Given the description of an element on the screen output the (x, y) to click on. 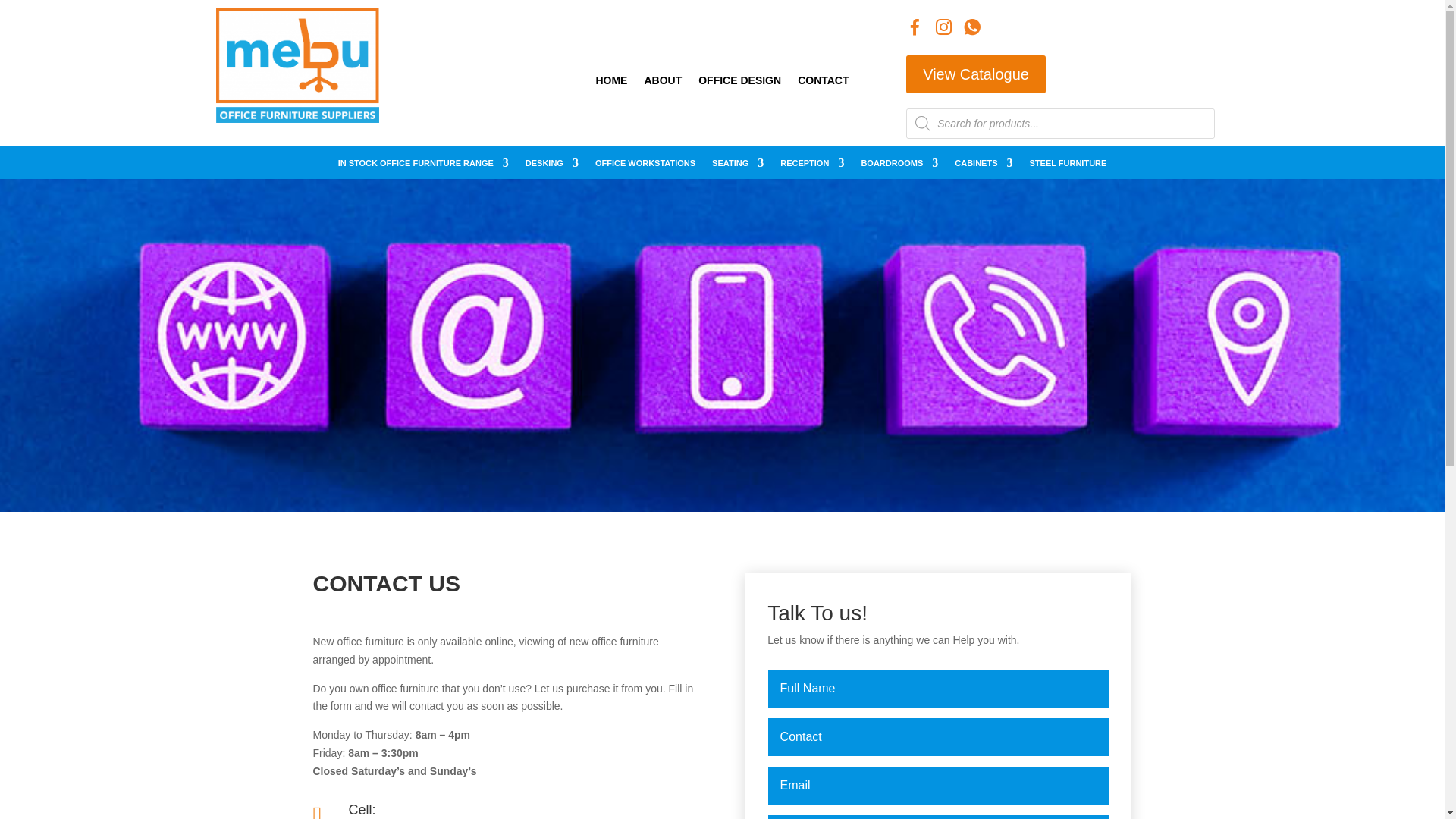
ABOUT (662, 83)
DESKING (551, 166)
CONTACT (822, 83)
Only letters and numbers allowed. (938, 736)
OFFICE DESIGN (739, 83)
Only letters allowed. (938, 688)
SEATING (736, 166)
HOME (611, 83)
Mebu-Office-furniture (296, 64)
View Catalogue (975, 74)
OFFICE WORKSTATIONS (645, 166)
IN STOCK OFFICE FURNITURE RANGE (422, 166)
